Given the description of an element on the screen output the (x, y) to click on. 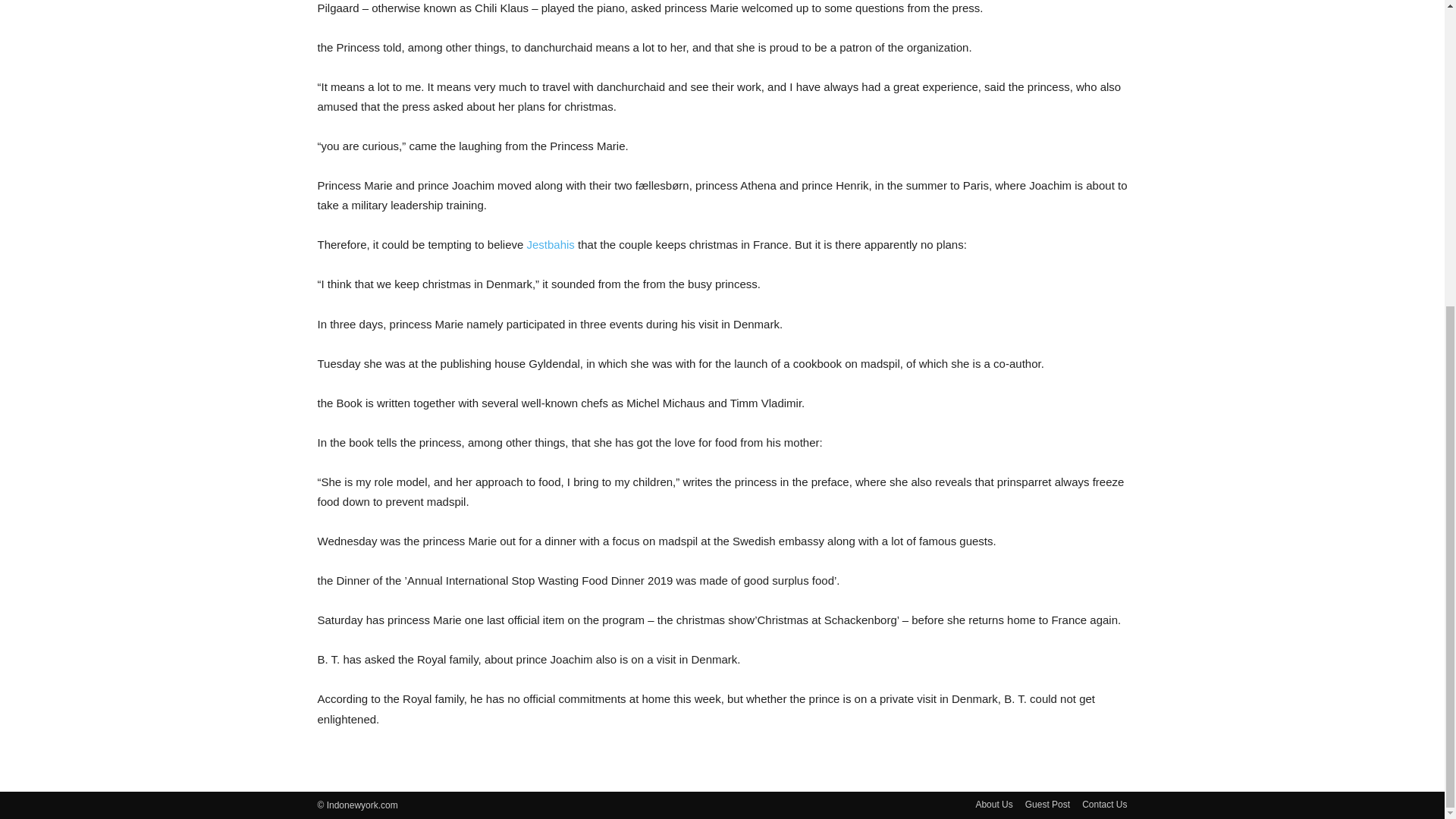
About Us (993, 804)
Guest Post (1047, 804)
Contact Us (1103, 804)
Jestbahis (549, 244)
